Given the description of an element on the screen output the (x, y) to click on. 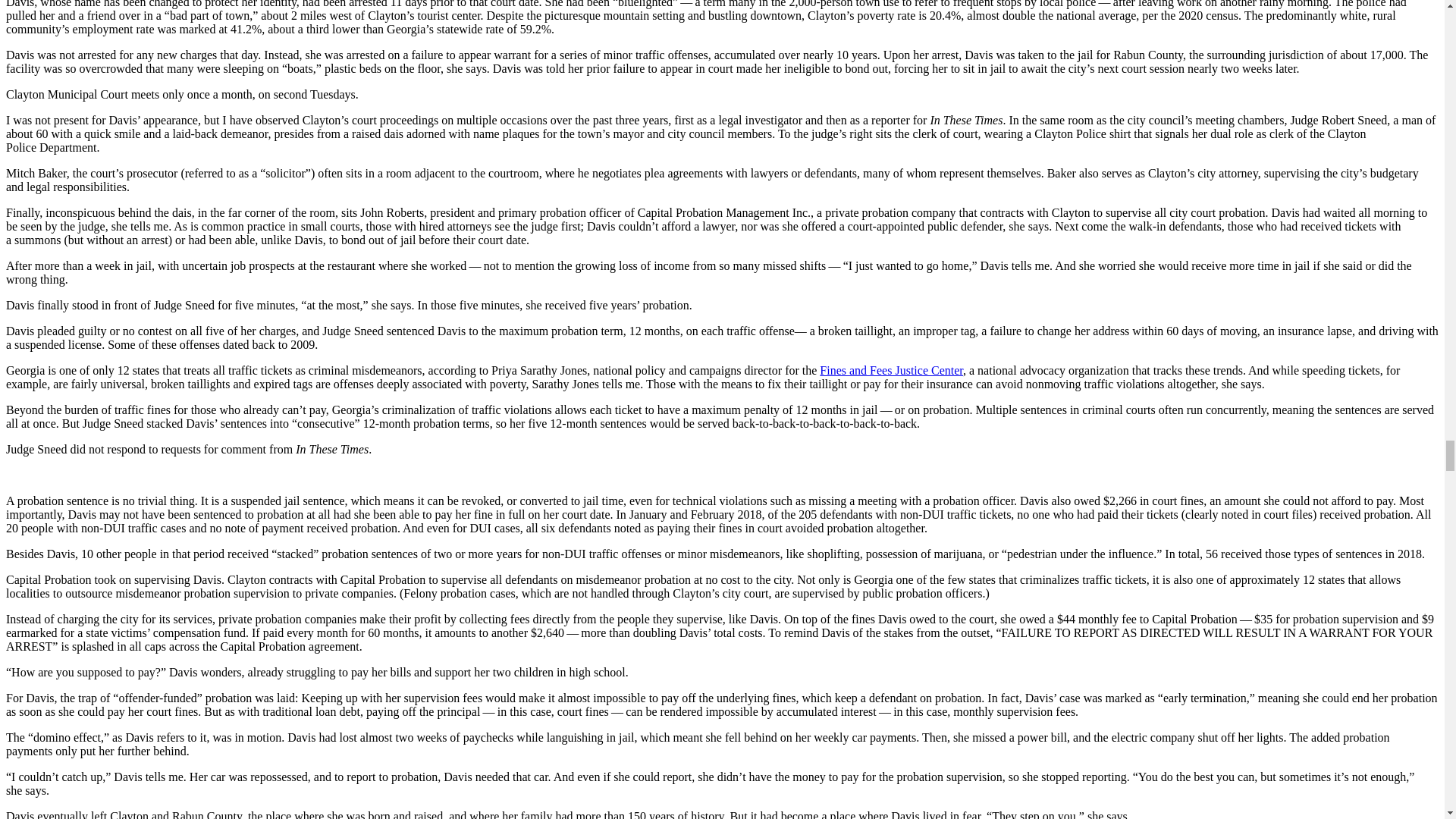
Fines and Fees Justice Center (890, 369)
